Given the description of an element on the screen output the (x, y) to click on. 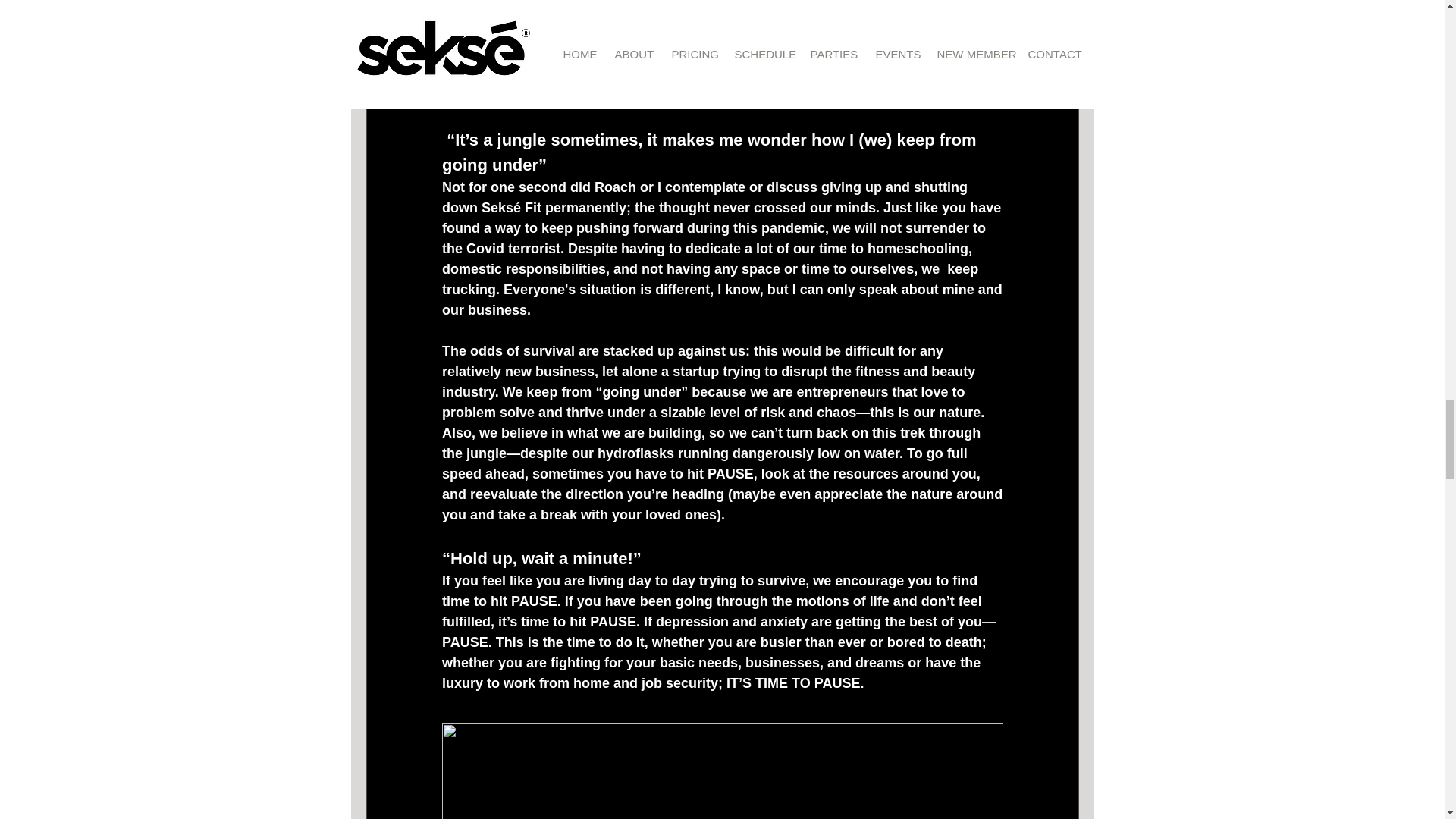
Jun 19, 2020 (517, 4)
